Given the description of an element on the screen output the (x, y) to click on. 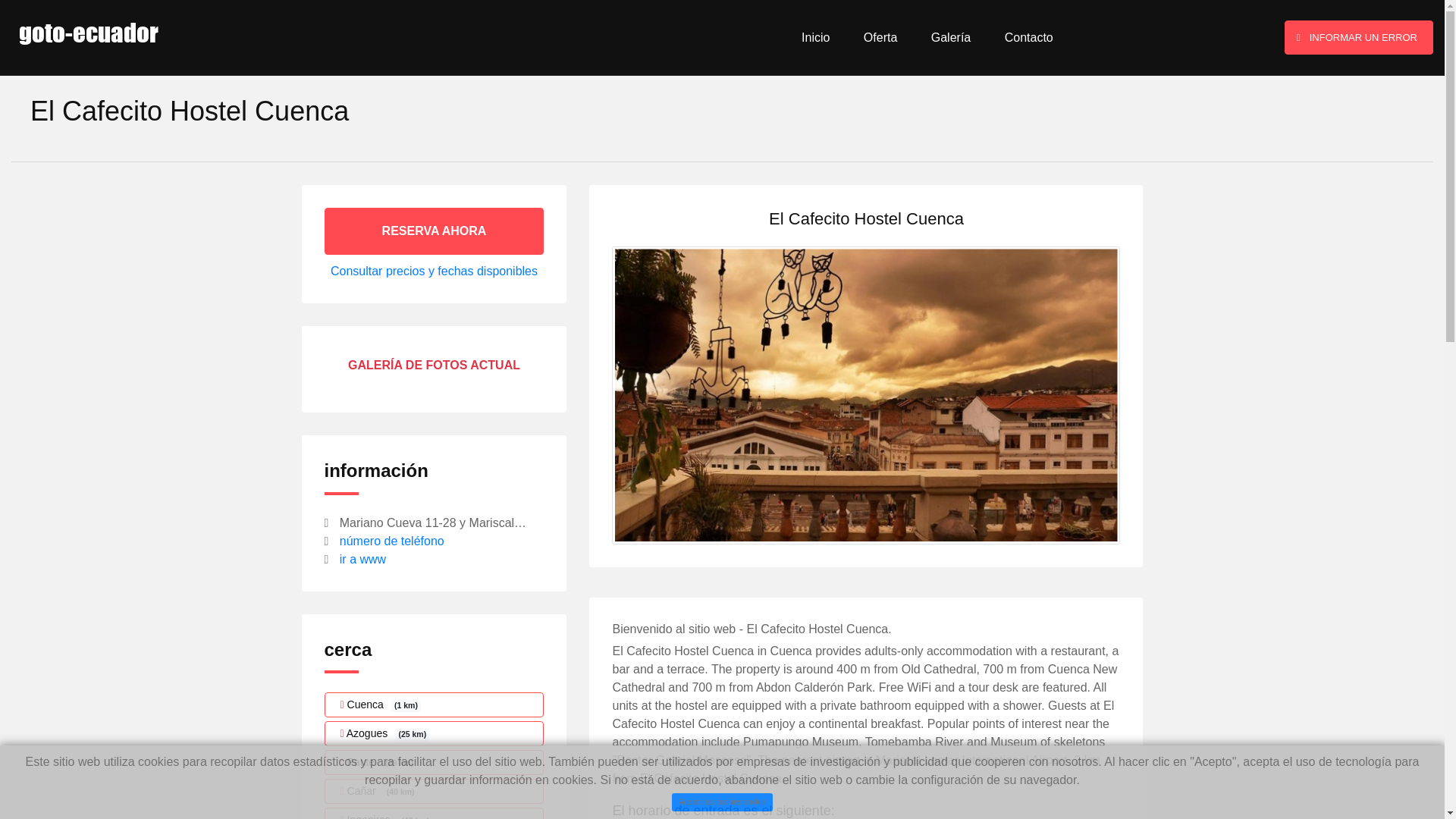
ir a www (362, 558)
Alojamiento Cuenca (434, 704)
Alojamiento Ingapirca (434, 813)
Alojamiento Paute (434, 762)
Consultar precios y fechas disponibles (433, 270)
Alojamiento Azogues (434, 733)
Acepto las cookies cookie (721, 802)
INFORMAR UN ERROR (1358, 37)
RESERVA AHORA (434, 231)
Contacto (1028, 37)
